Given the description of an element on the screen output the (x, y) to click on. 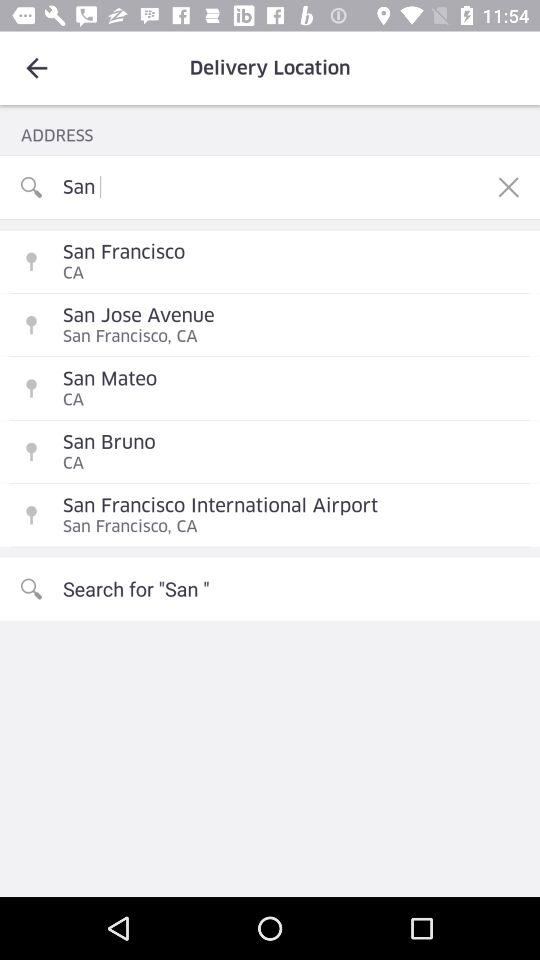
turn off the icon above address item (36, 68)
